Given the description of an element on the screen output the (x, y) to click on. 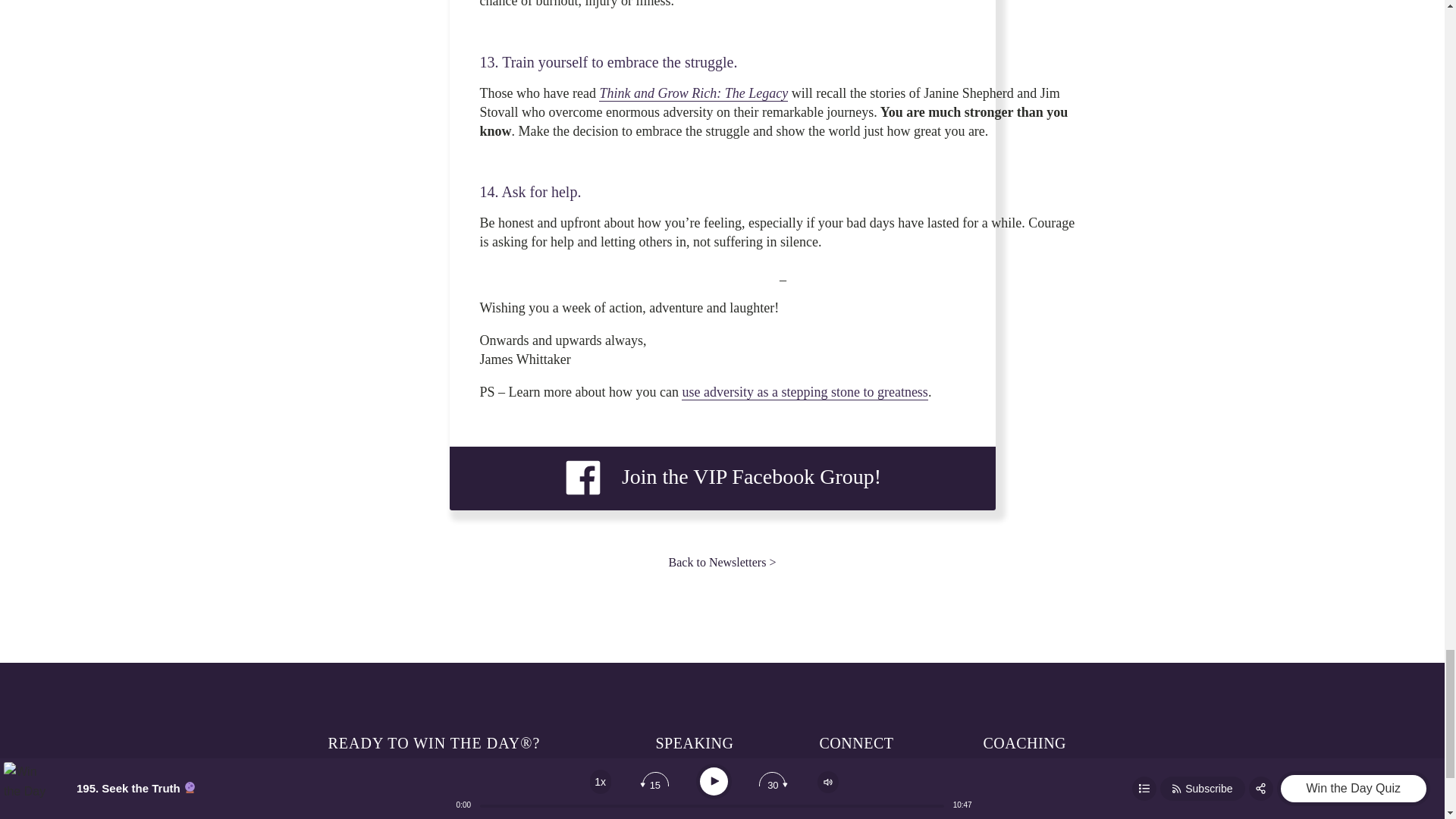
use adversity as a stepping stone to greatness (804, 392)
Join the VIP Facebook Group! (721, 477)
VIDEOS (676, 808)
TOPICS (675, 782)
Think and Grow Rich: The Legacy (692, 93)
